Given the description of an element on the screen output the (x, y) to click on. 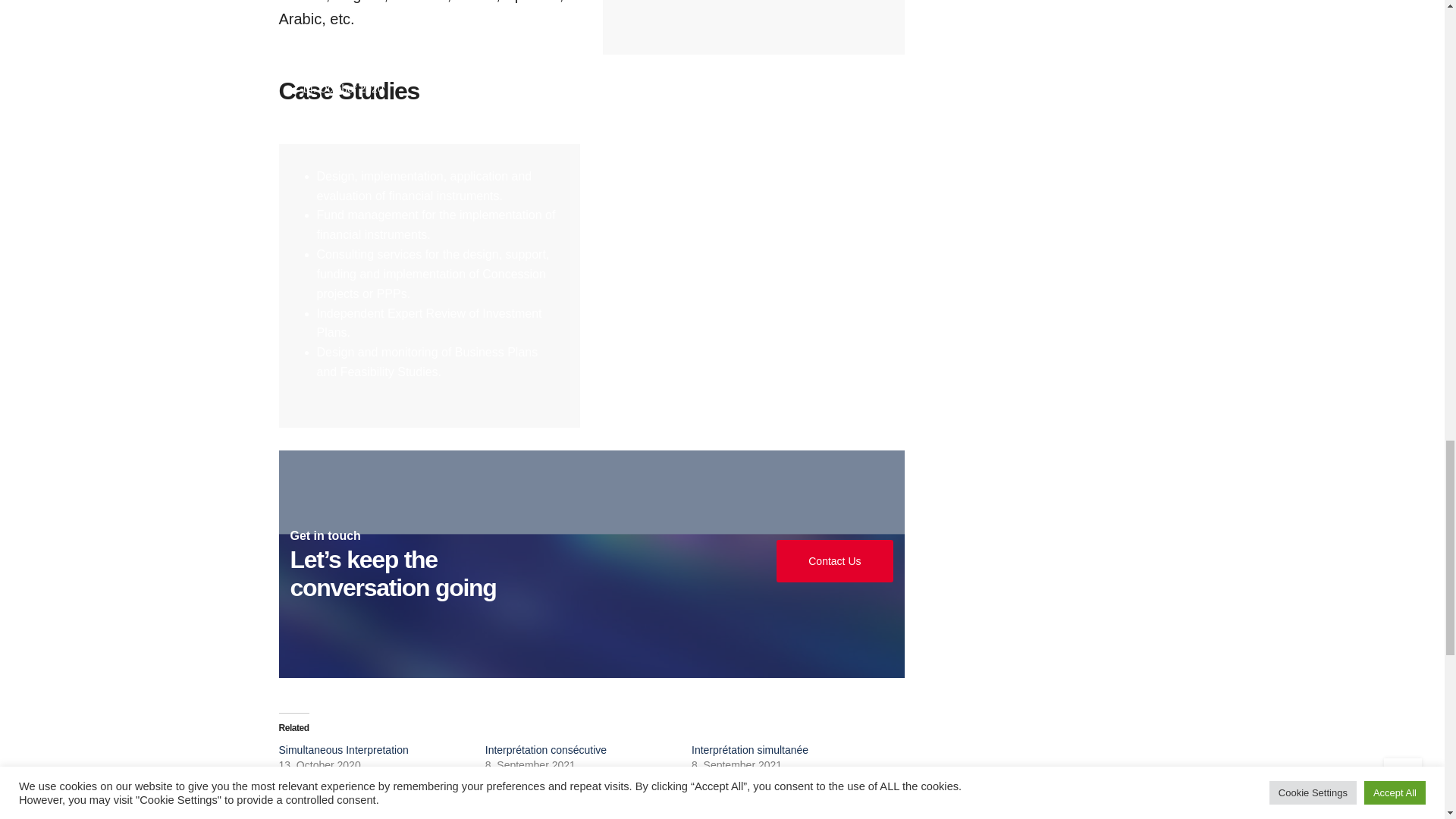
Simultaneous Interpretation (344, 749)
Simultaneous Interpretation (344, 749)
Contact Us (834, 561)
How do we ensure quality? (716, 71)
10 Steps Translation Process (398, 71)
